Given the description of an element on the screen output the (x, y) to click on. 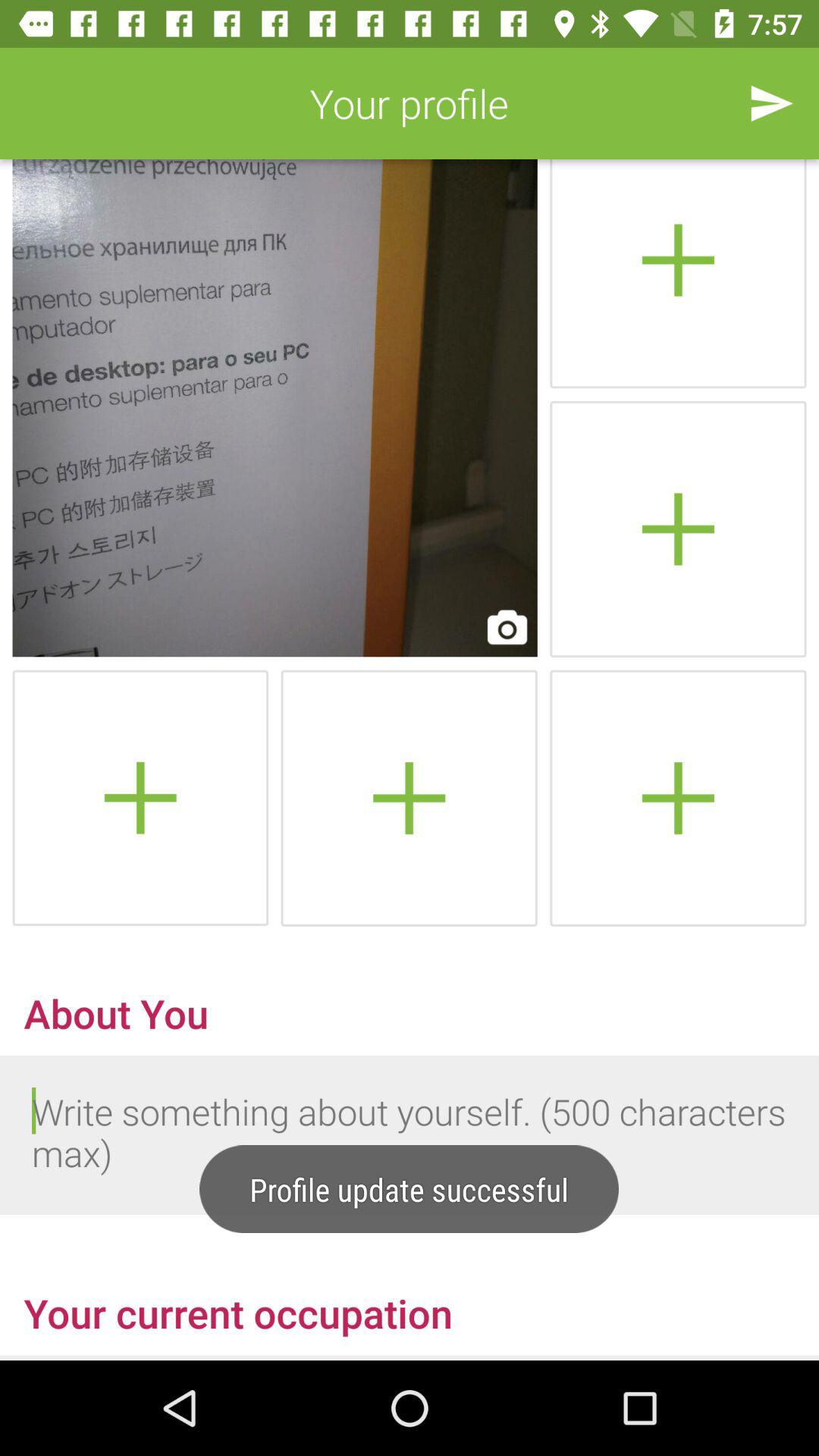
upload or add photo (677, 273)
